Given the description of an element on the screen output the (x, y) to click on. 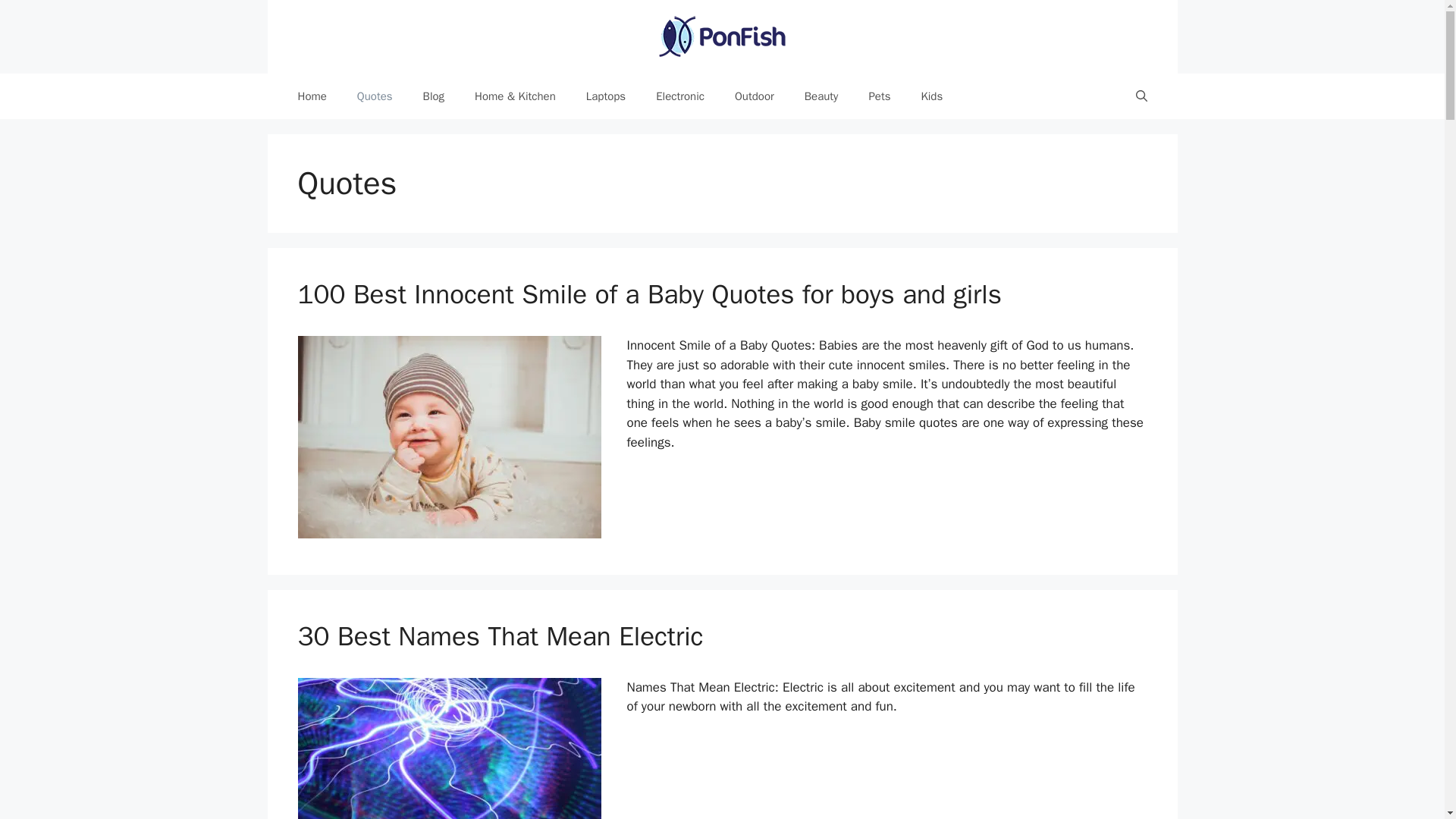
Pets (879, 95)
Beauty (821, 95)
Home (311, 95)
100 Best Innocent Smile of a Baby Quotes for boys and girls (649, 294)
Outdoor (754, 95)
Electronic (679, 95)
Laptops (605, 95)
Blog (433, 95)
Kids (931, 95)
30 Best Names That Mean Electric (500, 635)
